Given the description of an element on the screen output the (x, y) to click on. 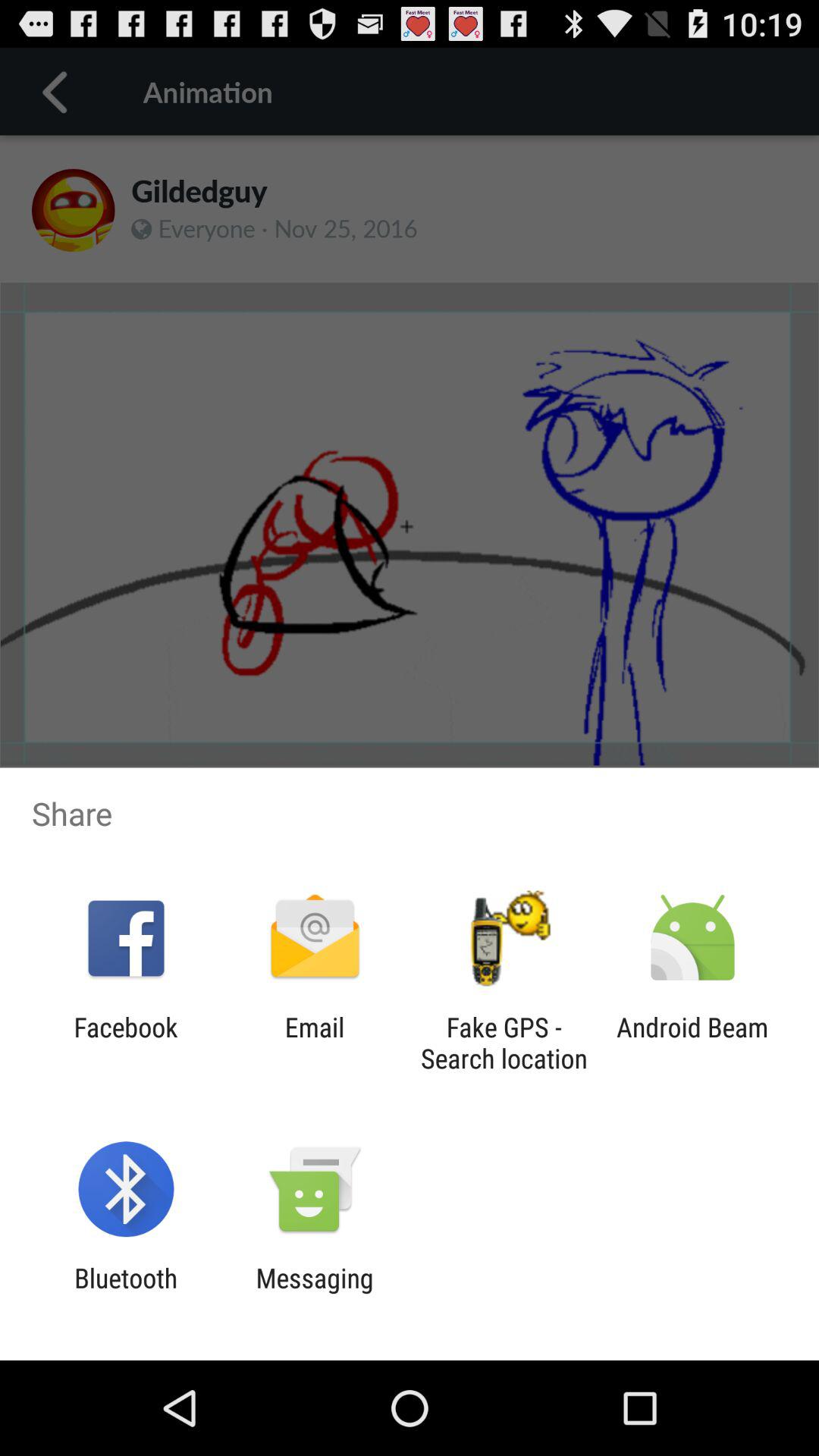
press the email (314, 1042)
